Given the description of an element on the screen output the (x, y) to click on. 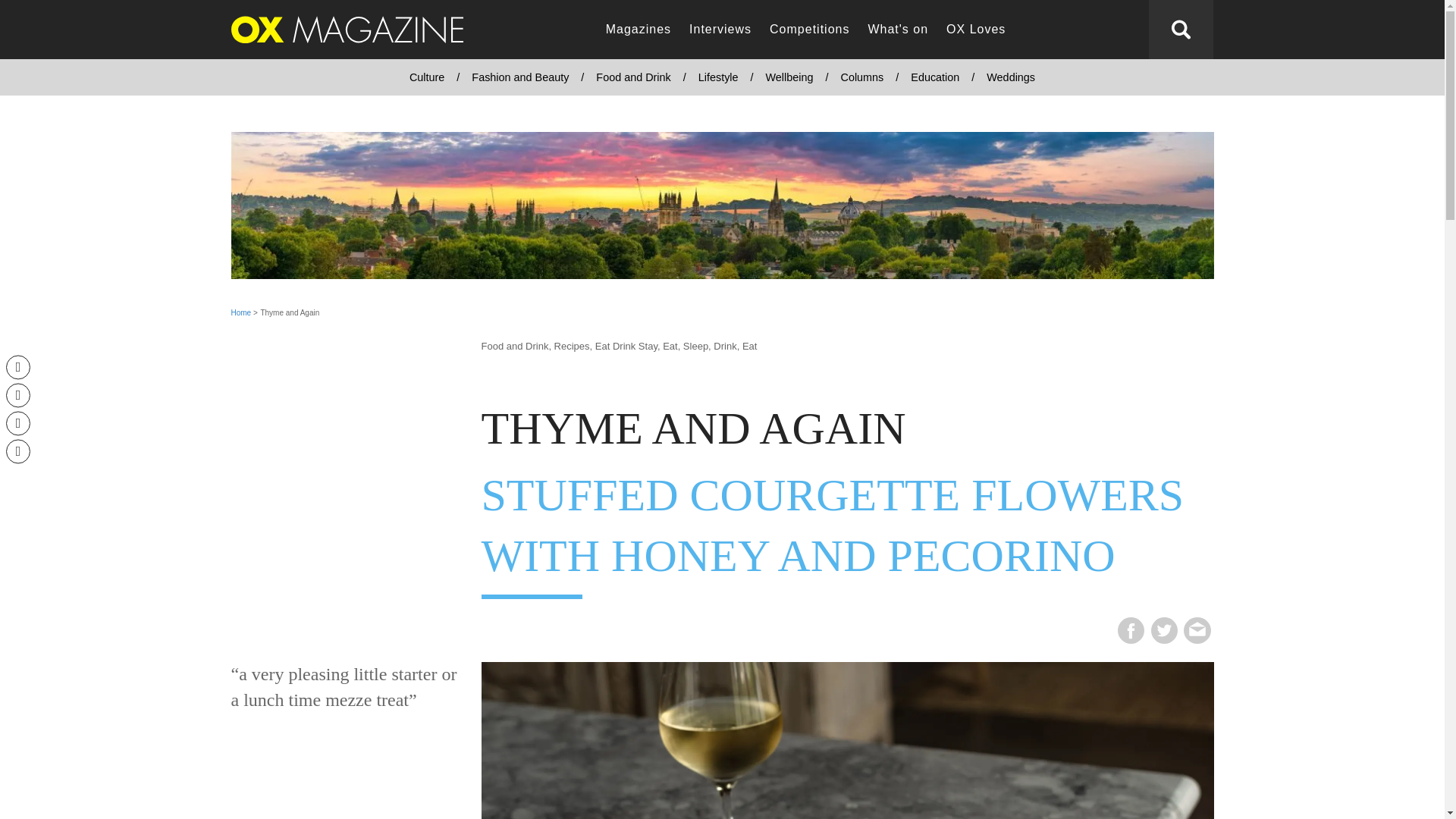
Columns (861, 77)
Wellbeing (789, 77)
Lifestyle (718, 77)
Magazines (637, 29)
Food and Drink (632, 77)
Weddings (1010, 77)
Competitions (809, 29)
What's on (898, 29)
Culture (427, 77)
Home (240, 312)
